Given the description of an element on the screen output the (x, y) to click on. 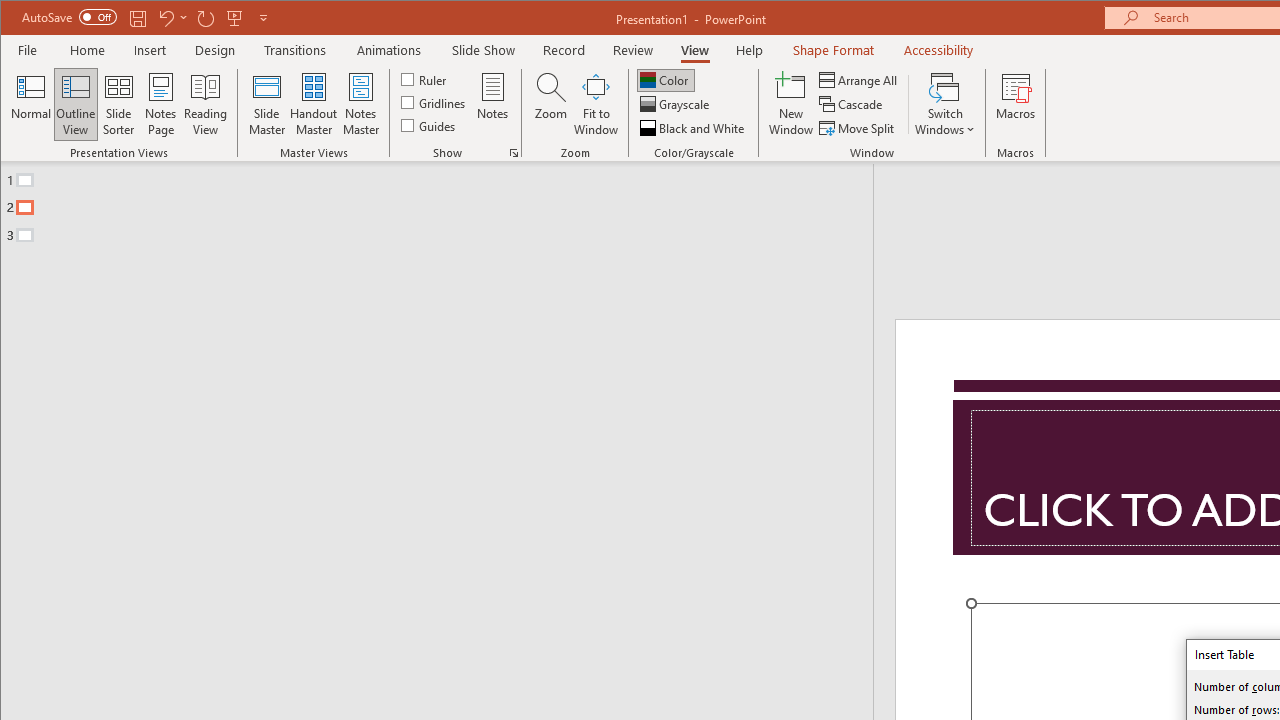
Guides (430, 124)
Gridlines (435, 101)
Switch Windows (944, 104)
Zoom... (550, 104)
Black and White (694, 127)
Shape Format (833, 50)
Grayscale (676, 103)
Arrange All (859, 80)
